Given the description of an element on the screen output the (x, y) to click on. 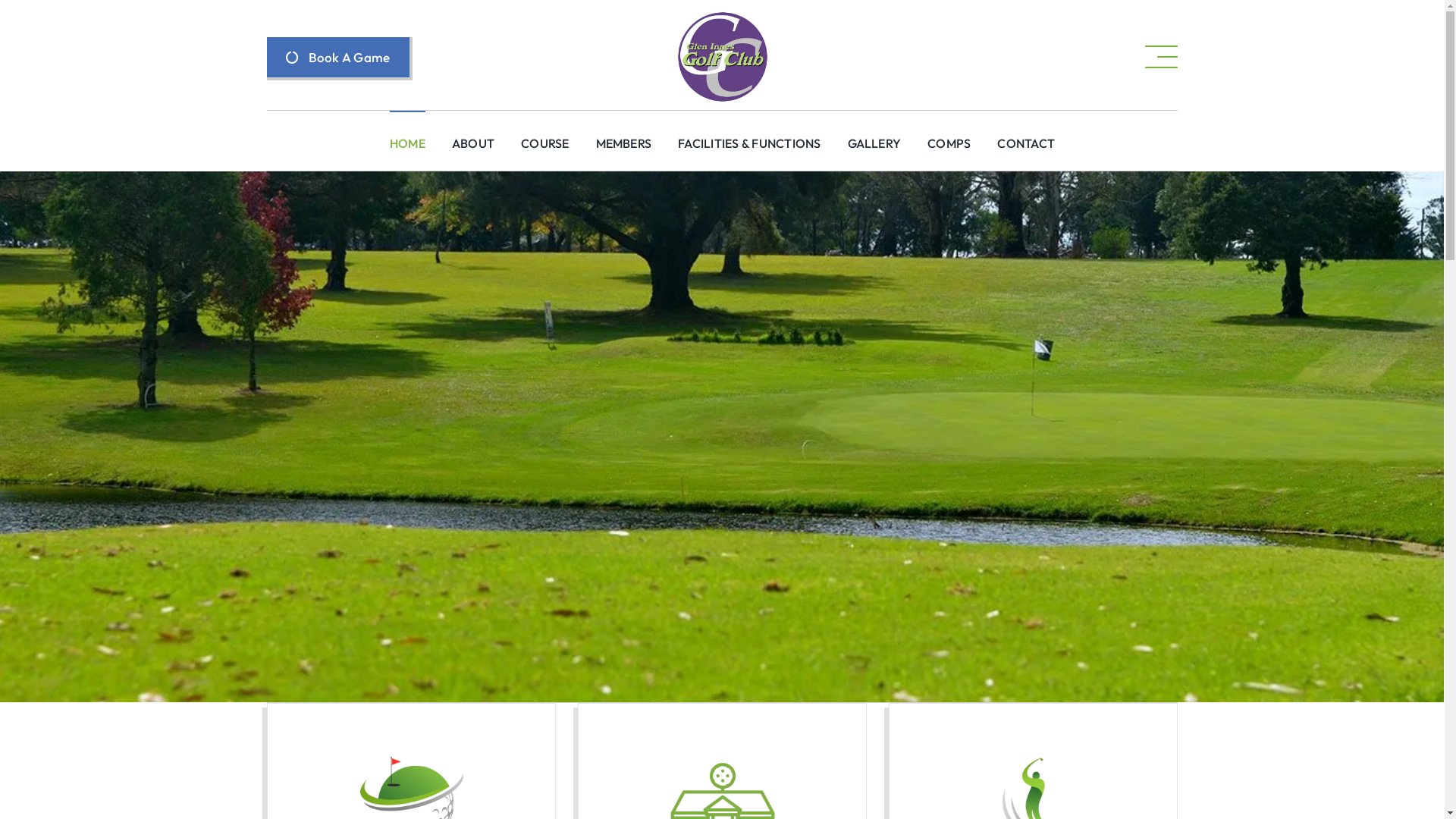
HOME Element type: text (407, 134)
ABOUT Element type: text (472, 134)
MEMBERS Element type: text (624, 134)
COURSE Element type: text (544, 134)
FACILITIES & FUNCTIONS Element type: text (748, 134)
CONTACT Element type: text (1025, 134)
COMPS Element type: text (948, 134)
GALLERY Element type: text (874, 134)
Book A Game Element type: text (338, 59)
